Given the description of an element on the screen output the (x, y) to click on. 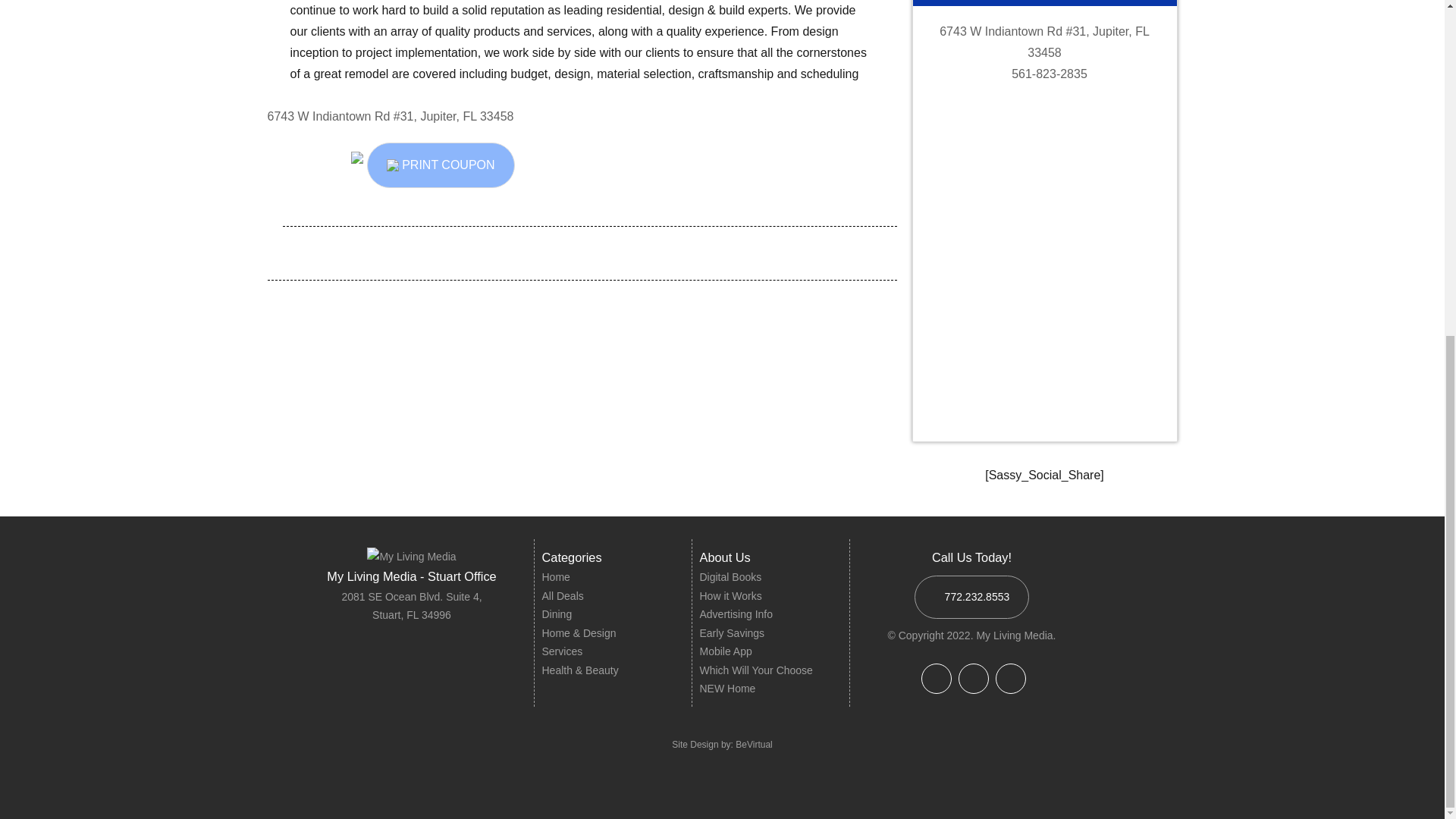
Which Will Your Choose (755, 670)
772.232.8553 (971, 597)
Early Savings (731, 633)
Advertising Info (735, 613)
Home (555, 576)
Dining (556, 613)
How it Works (729, 595)
Services (561, 651)
NEW Home (726, 688)
Digital Books (729, 576)
